Given the description of an element on the screen output the (x, y) to click on. 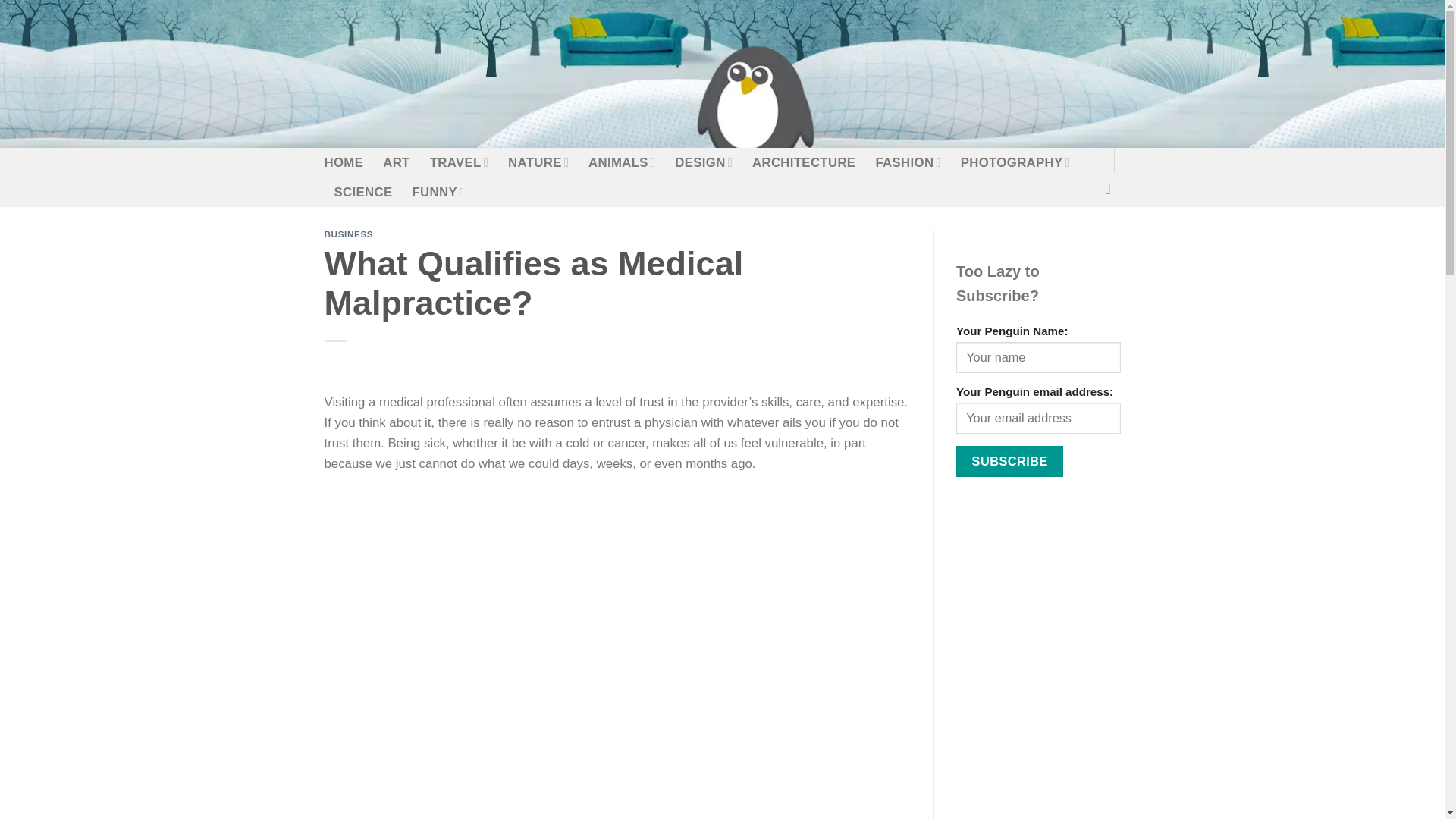
PHOTOGRAPHY (1015, 162)
TRAVEL (458, 162)
NATURE (538, 162)
DESIGN (703, 162)
HOME (344, 162)
ANIMALS (621, 162)
Subscribe (1009, 460)
ARCHITECTURE (804, 162)
SCIENCE (362, 192)
